Given the description of an element on the screen output the (x, y) to click on. 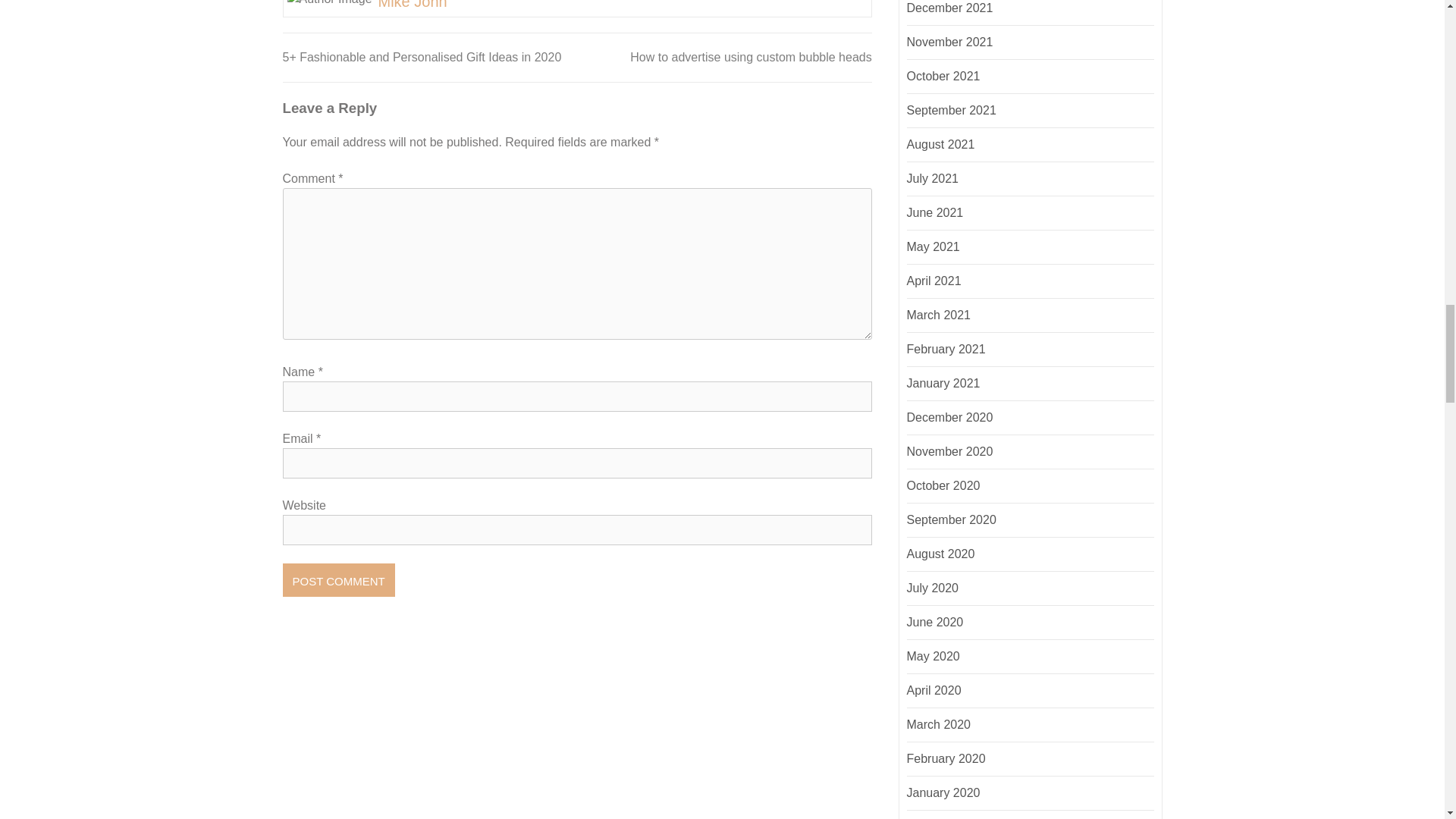
How to advertise using custom bubble heads (750, 56)
Post Comment (338, 580)
Post Comment (338, 580)
Author Image (328, 4)
